Given the description of an element on the screen output the (x, y) to click on. 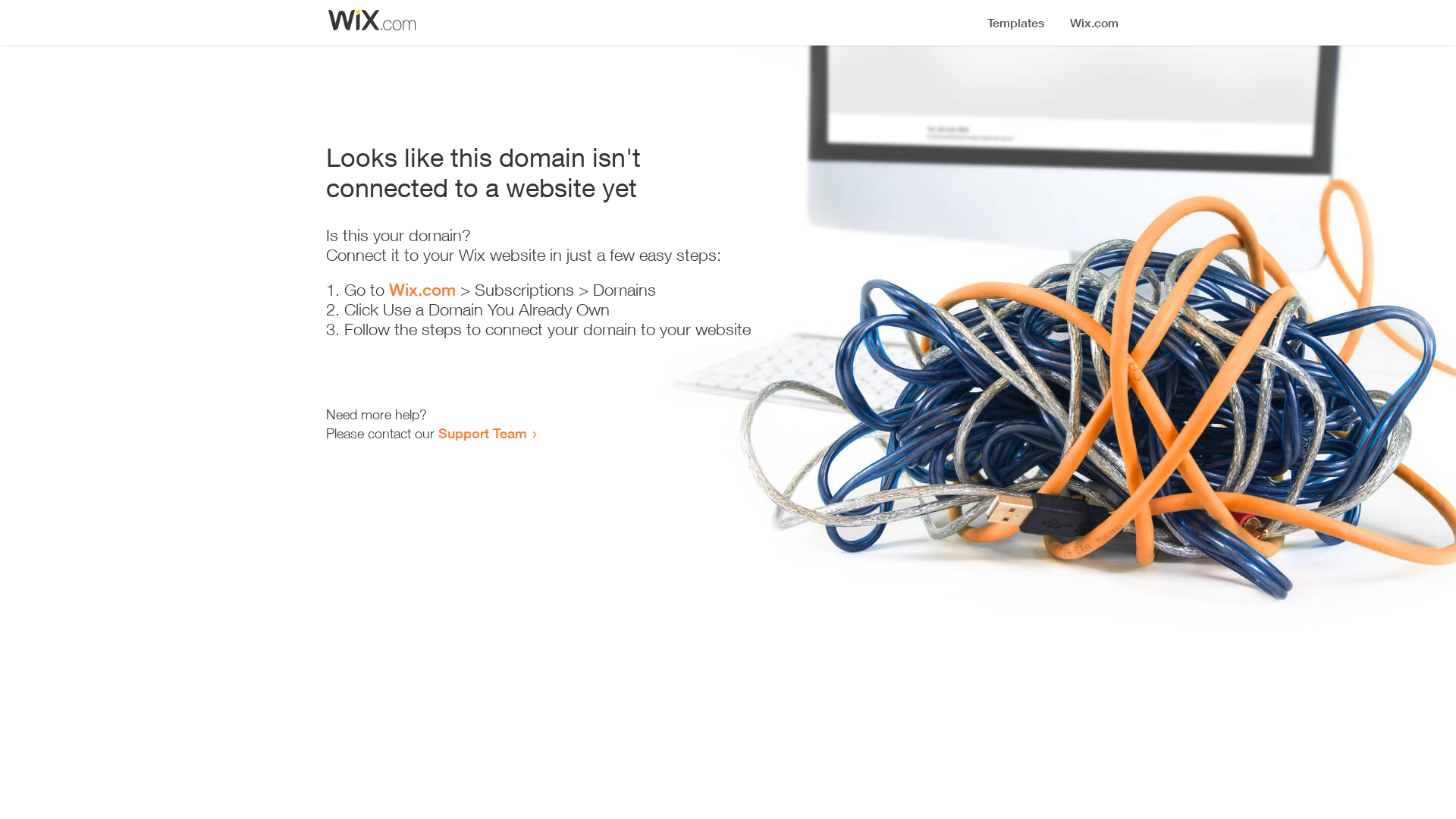
Wix.com Element type: text (422, 289)
Support Team Element type: text (482, 432)
